Given the description of an element on the screen output the (x, y) to click on. 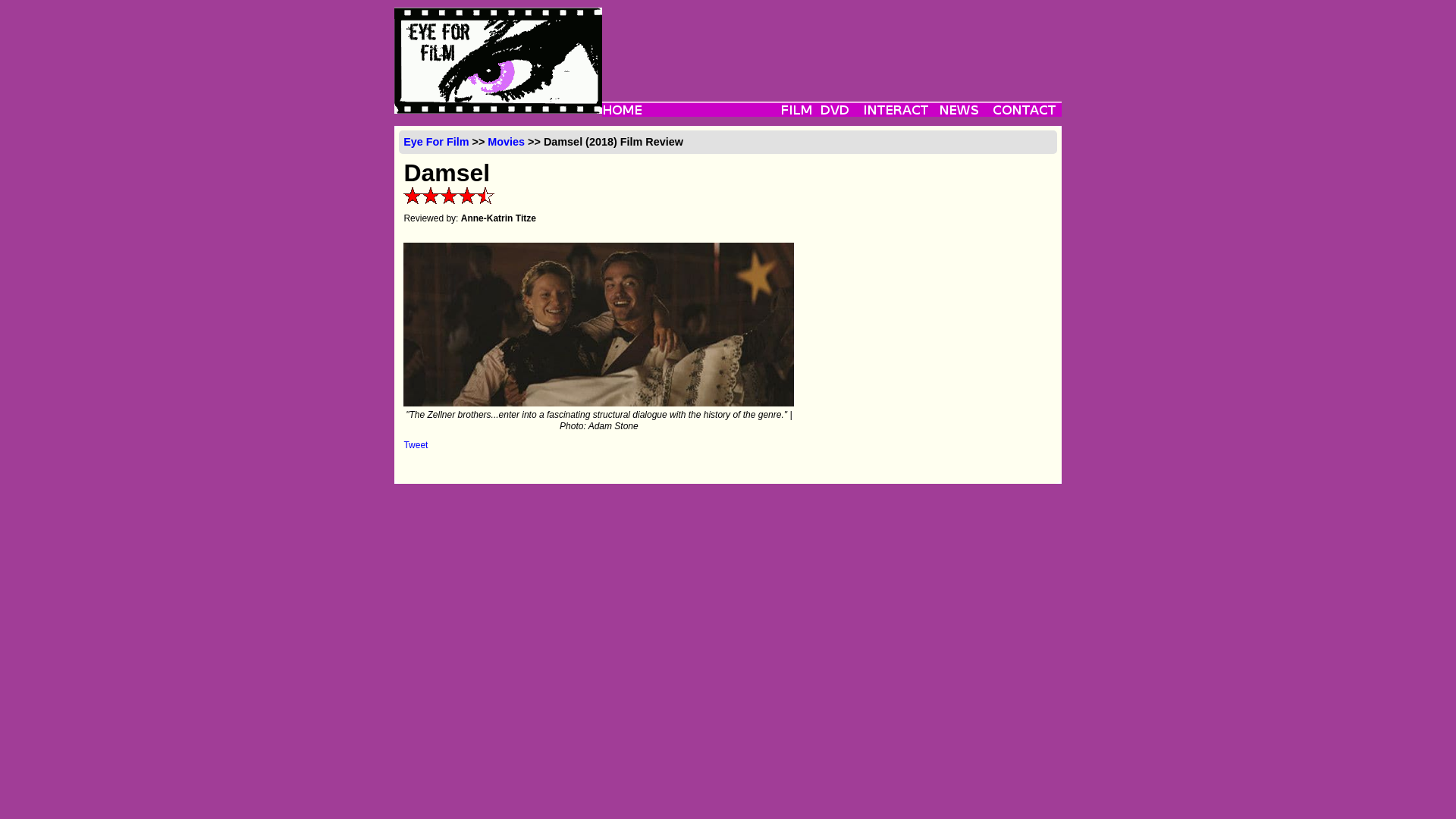
Anne-Katrin Titze (498, 217)
Eye For Film (435, 141)
Tweet (415, 444)
Advertisement (832, 41)
Movies (505, 141)
